Given the description of an element on the screen output the (x, y) to click on. 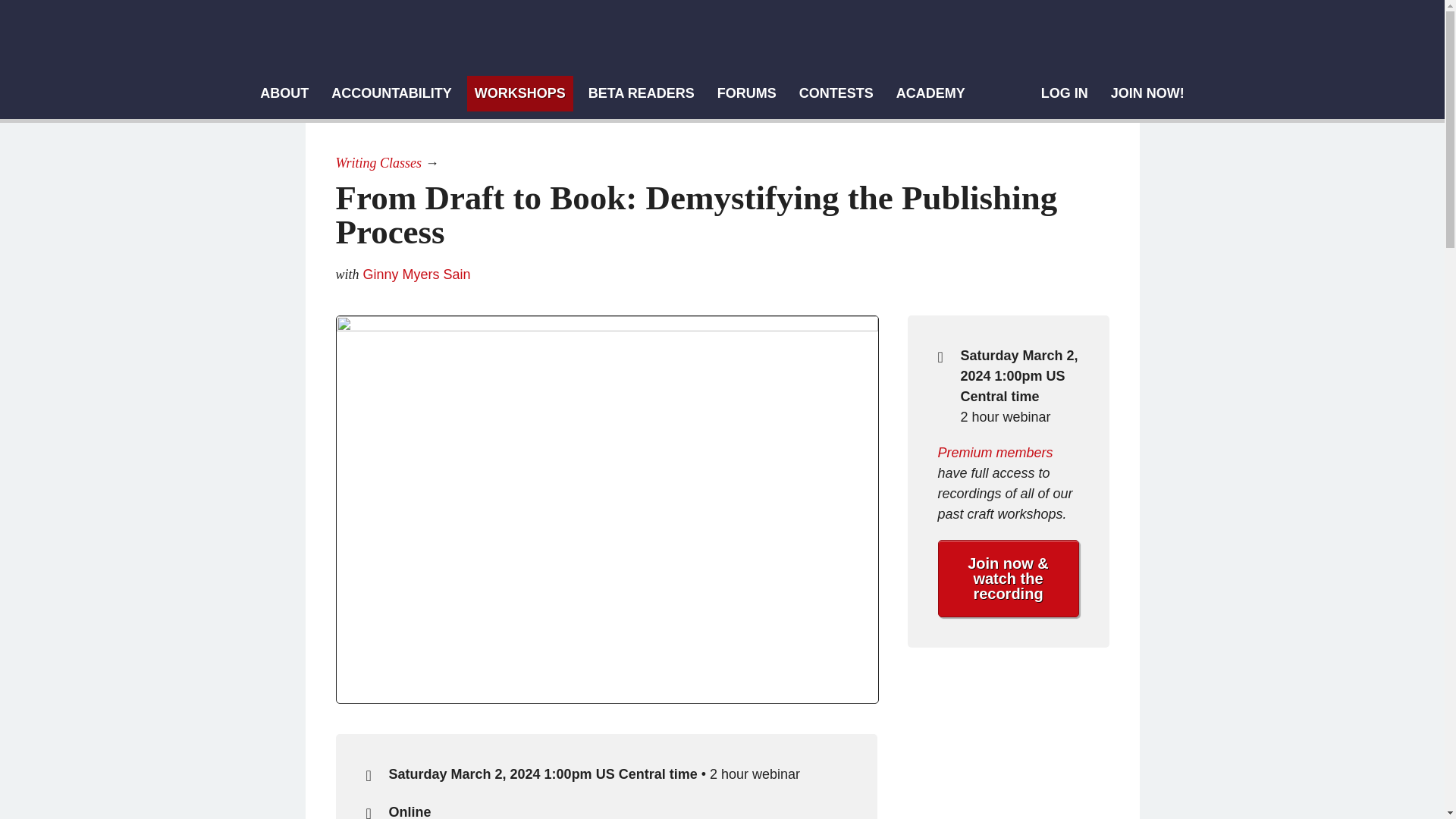
ACCOUNTABILITY (391, 93)
LOG IN (1064, 93)
Ginny Myers Sain (416, 273)
ACADEMY (930, 93)
BETA READERS (640, 93)
Scribophile (705, 39)
JOIN NOW! (1147, 93)
CONTESTS (836, 93)
FORUMS (747, 93)
ABOUT (283, 93)
